Given the description of an element on the screen output the (x, y) to click on. 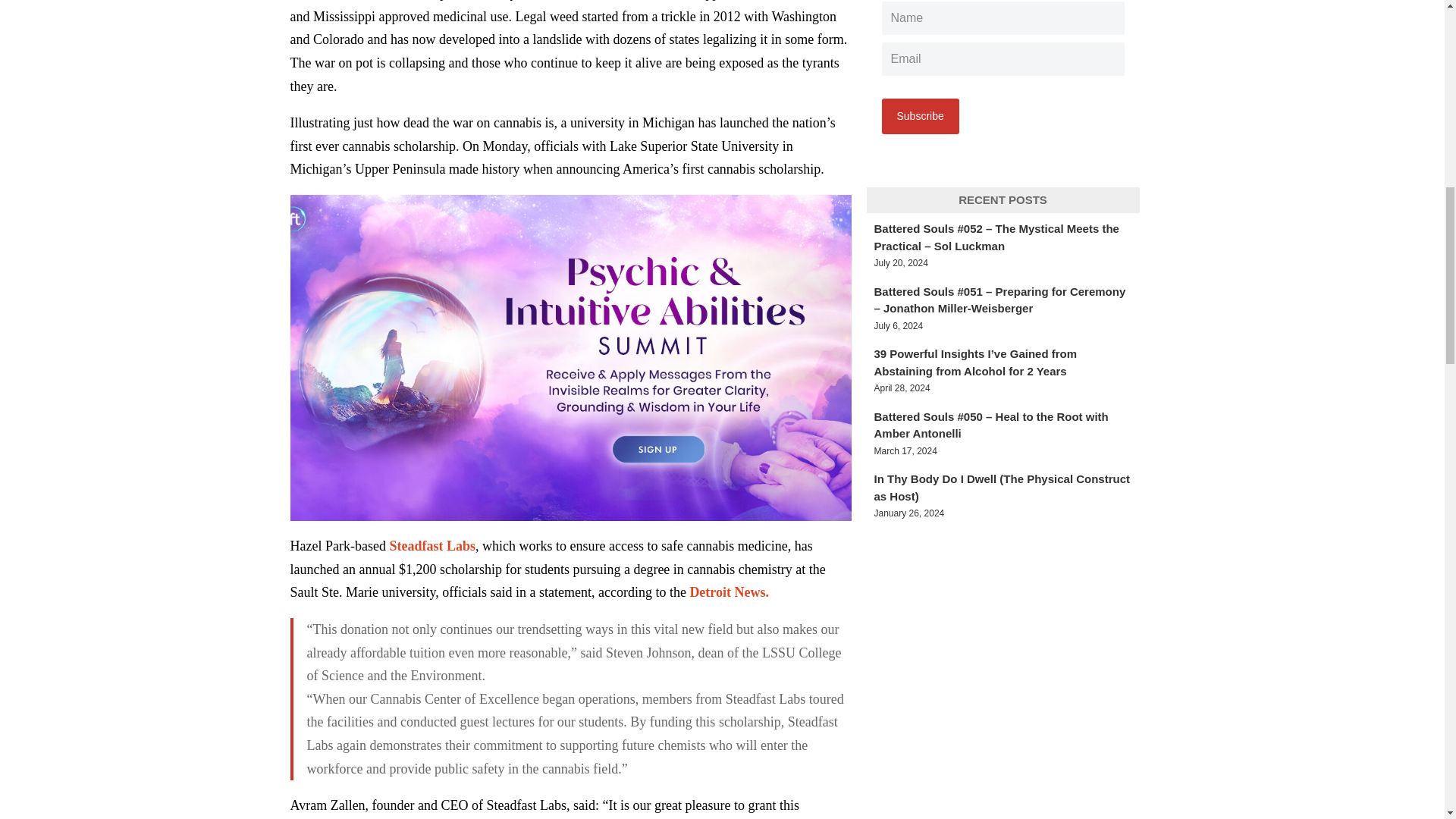
Steadfast Labs (432, 545)
Detroit News. (728, 591)
Subscribe (919, 116)
